Given the description of an element on the screen output the (x, y) to click on. 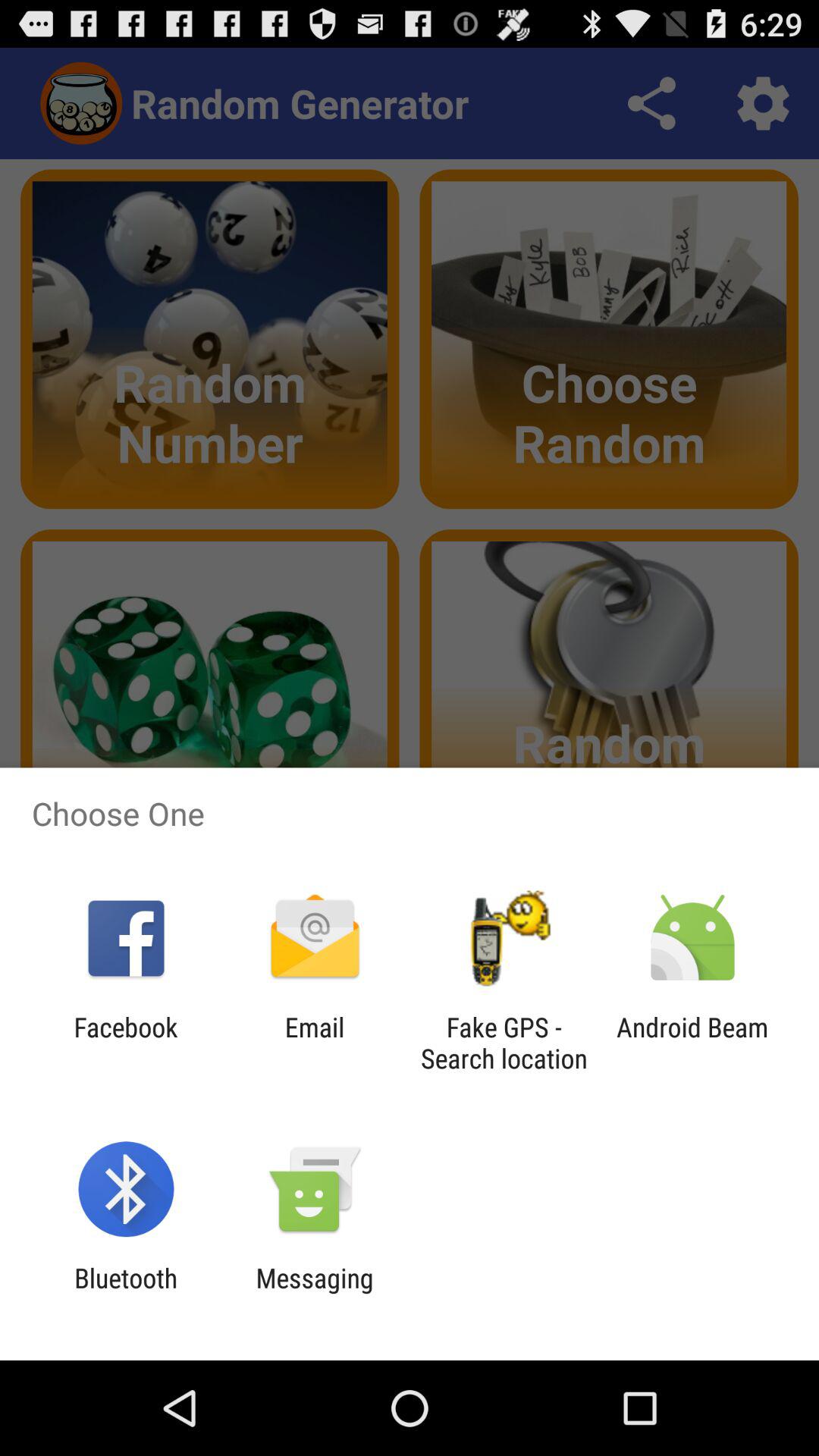
launch app at the bottom right corner (692, 1042)
